Given the description of an element on the screen output the (x, y) to click on. 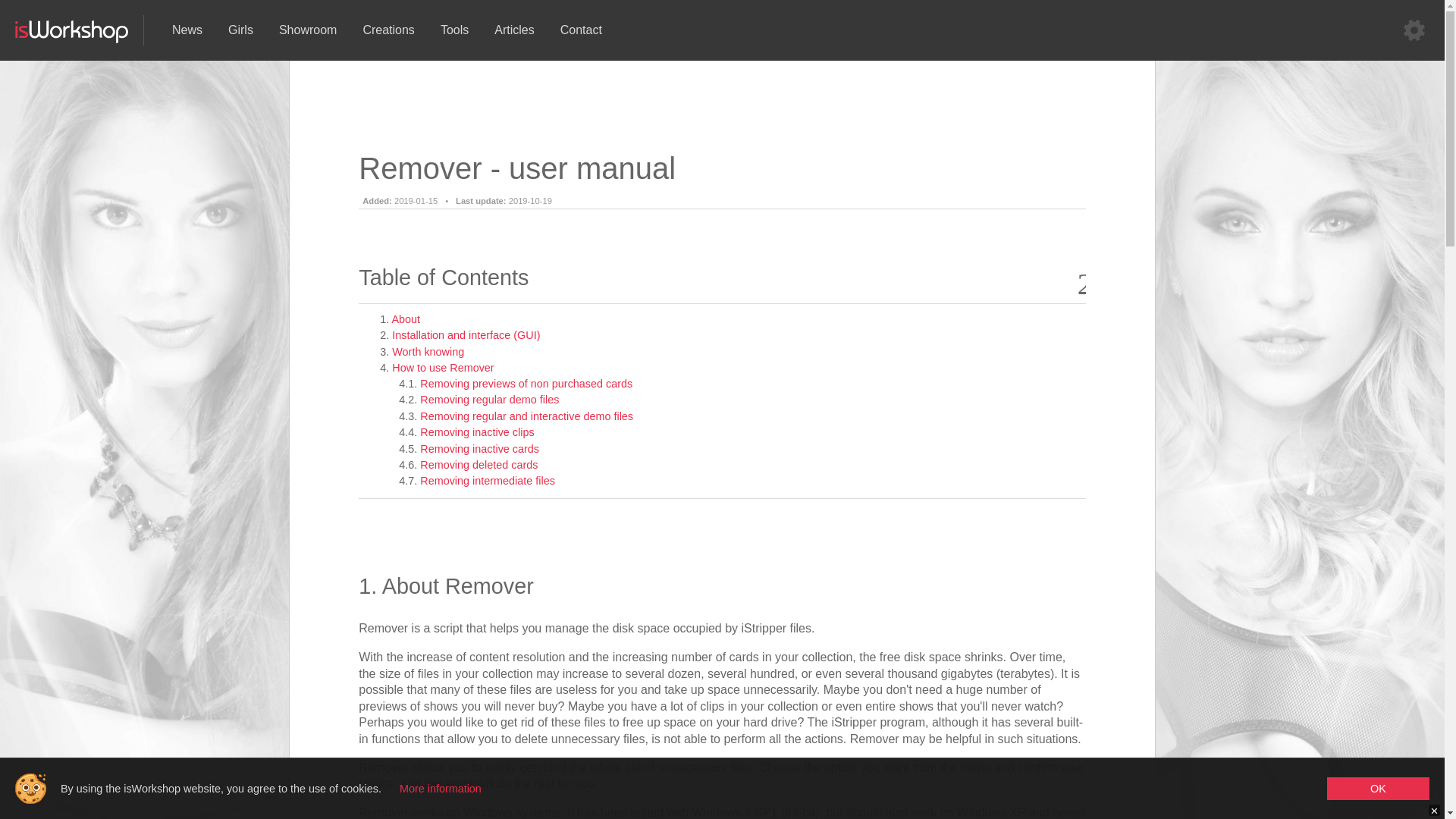
Showroom (307, 30)
Tools (454, 30)
News (187, 30)
Creations (387, 30)
Girls (240, 30)
Go home (71, 41)
